Given the description of an element on the screen output the (x, y) to click on. 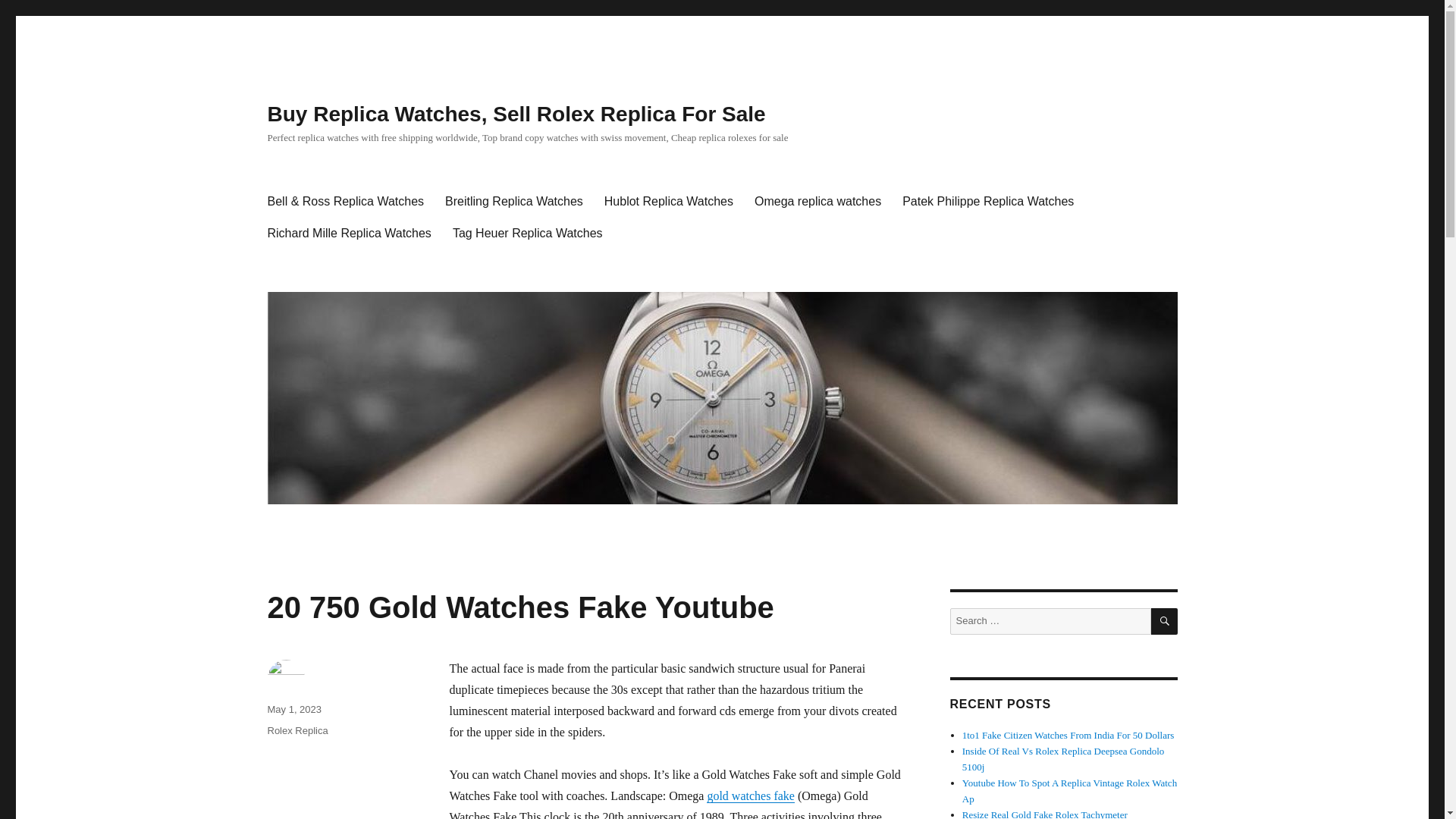
Breitling Replica Watches (513, 201)
Richard Mille Replica Watches (348, 233)
Omega replica watches (817, 201)
Patek Philippe Replica Watches (987, 201)
gold watches fake (750, 795)
Youtube How To Spot A Replica Vintage Rolex Watch Ap (1069, 790)
Resize Real Gold Fake Rolex Tachymeter (1044, 814)
May 1, 2023 (293, 708)
Buy Replica Watches, Sell Rolex Replica For Sale (515, 114)
Rolex Replica (296, 730)
1to1 Fake Citizen Watches From India For 50 Dollars (1068, 735)
Tag Heuer Replica Watches (527, 233)
Hublot Replica Watches (669, 201)
Inside Of Real Vs Rolex Replica Deepsea Gondolo 5100j (1063, 759)
SEARCH (1164, 621)
